Given the description of an element on the screen output the (x, y) to click on. 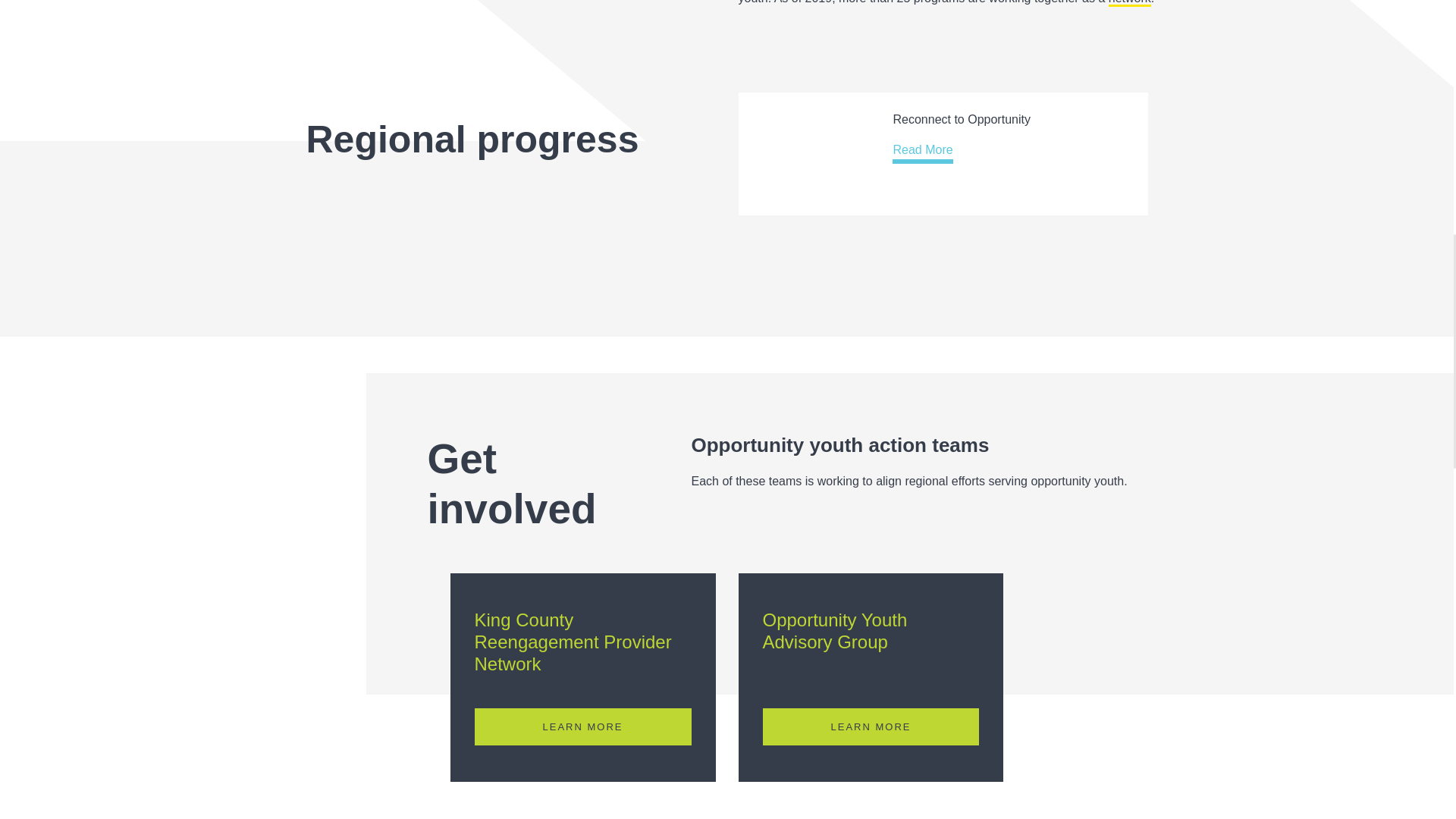
Read More (922, 151)
LEARN MORE (582, 727)
LEARN MORE (870, 727)
network (1129, 3)
